Given the description of an element on the screen output the (x, y) to click on. 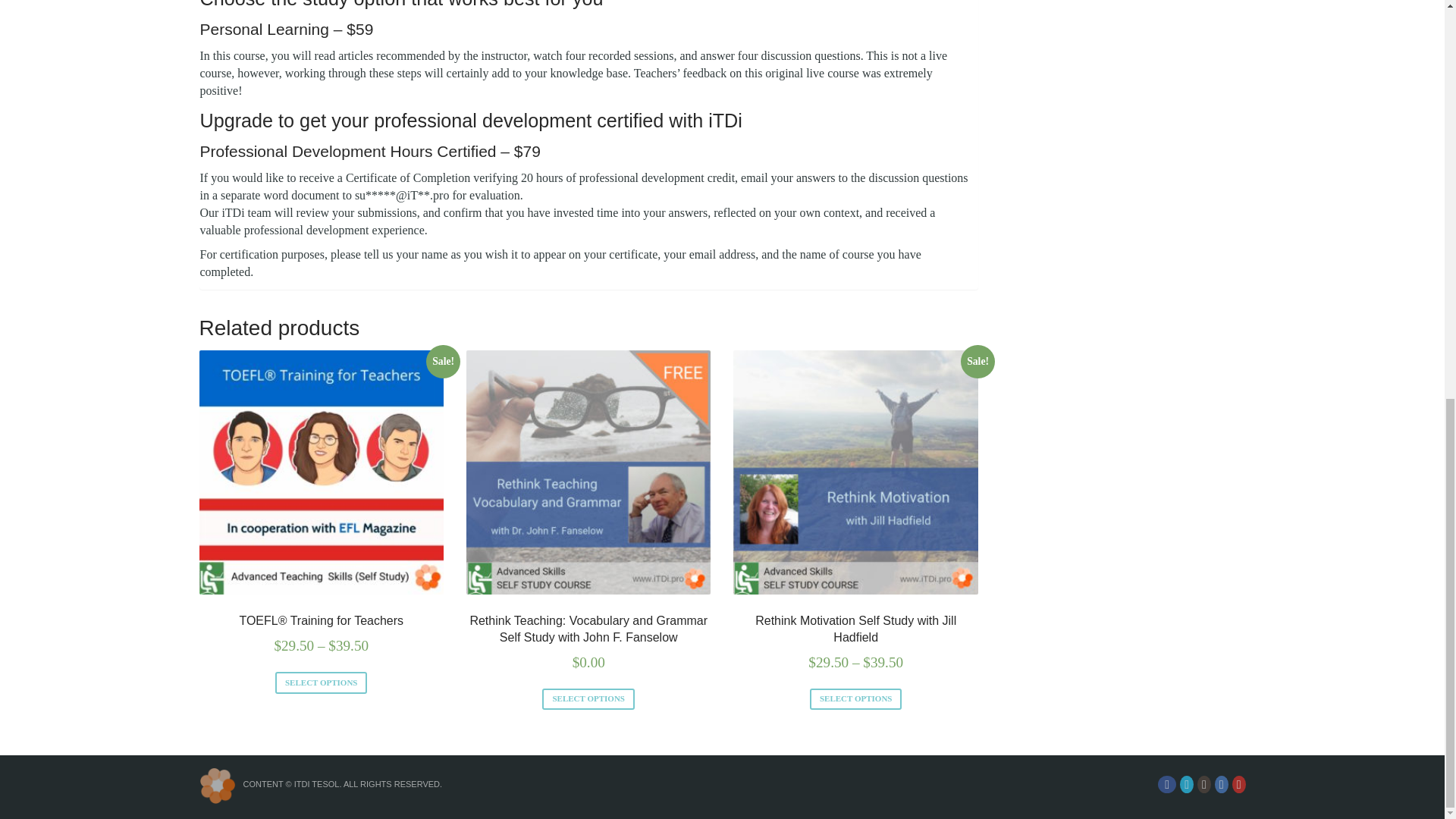
facebook (1166, 784)
